Given the description of an element on the screen output the (x, y) to click on. 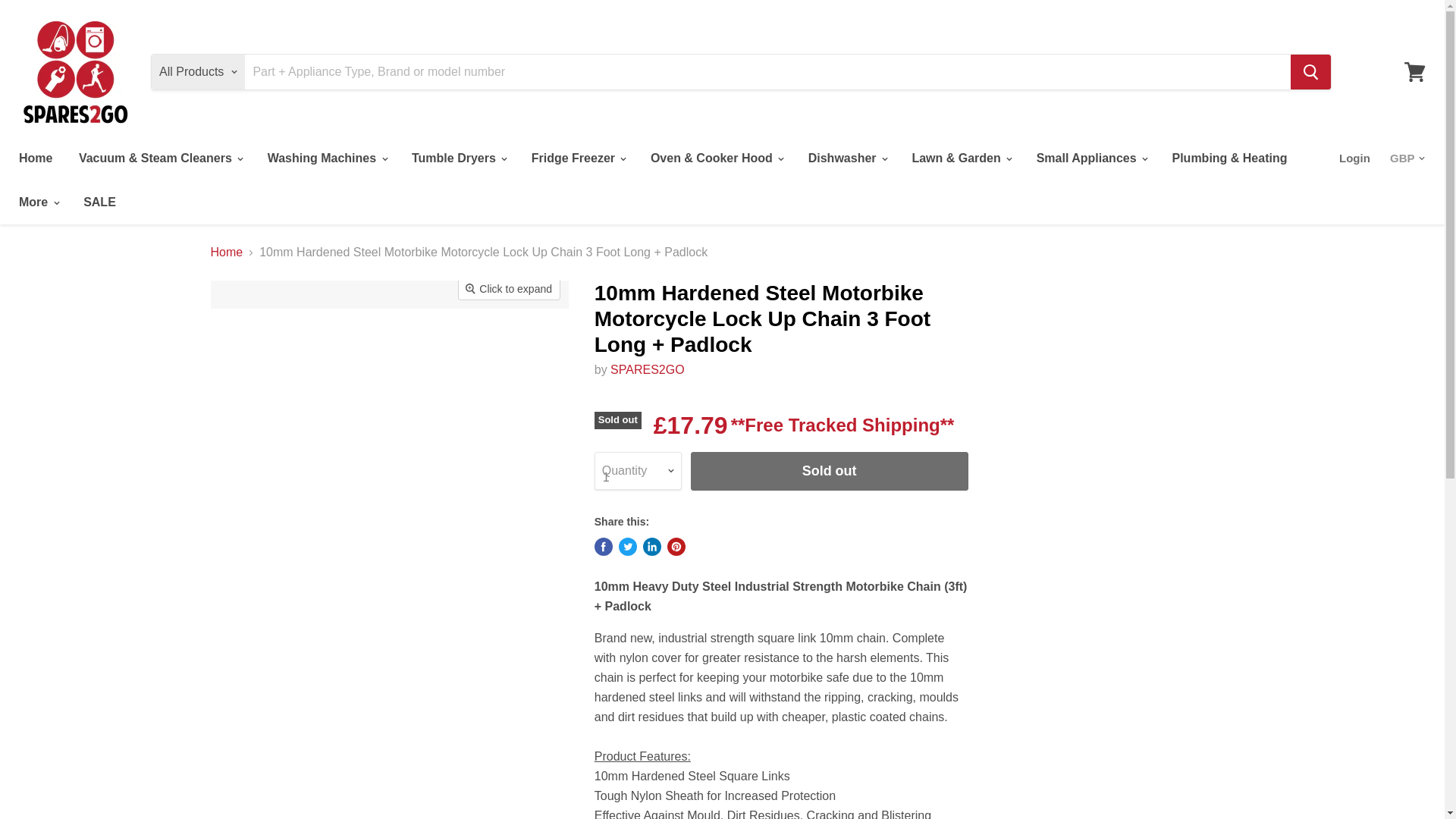
View cart (1414, 71)
Washing Machines (326, 158)
SPARES2GO (647, 369)
Home (35, 158)
